Given the description of an element on the screen output the (x, y) to click on. 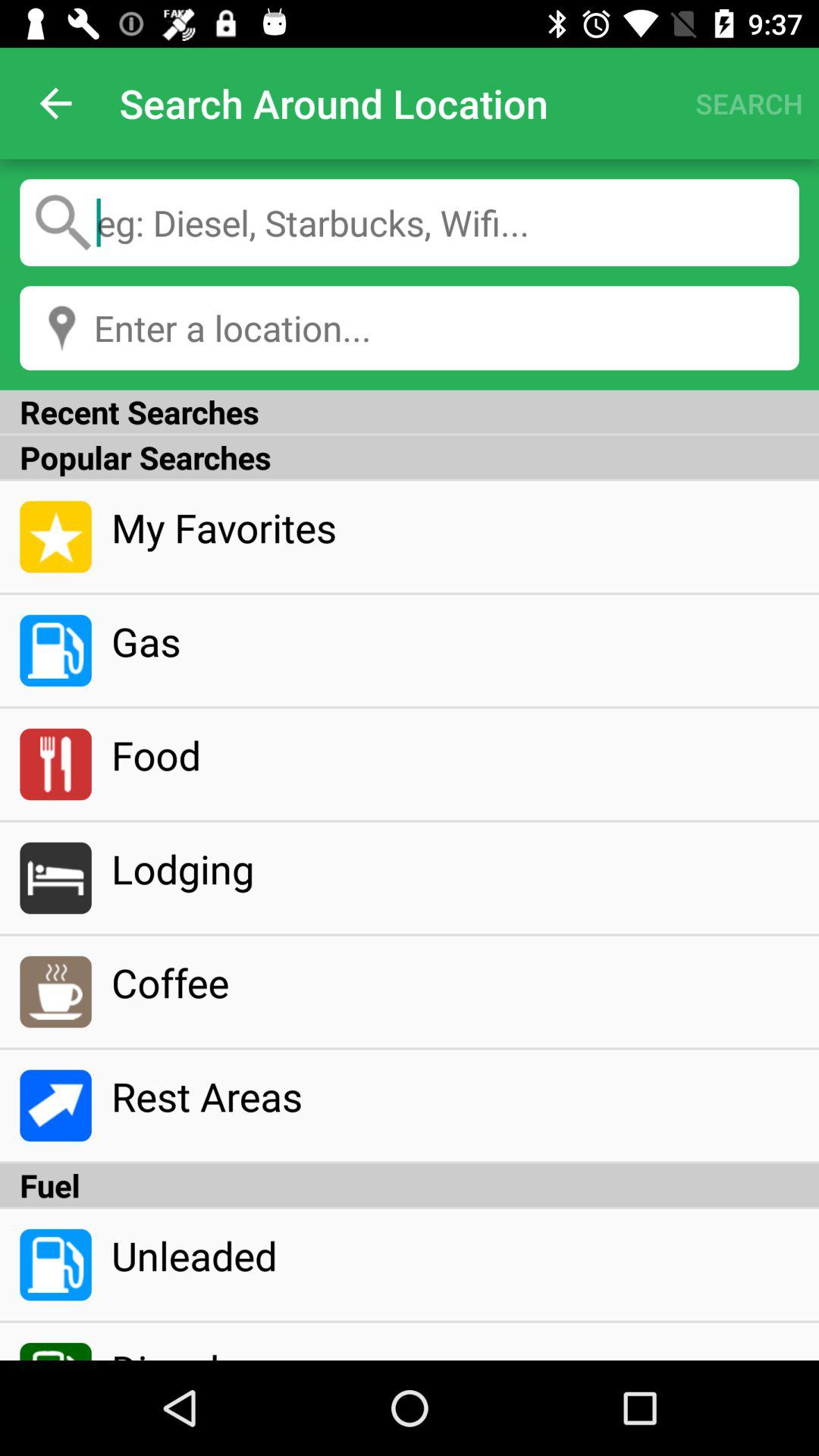
jump to fuel item (409, 1184)
